Given the description of an element on the screen output the (x, y) to click on. 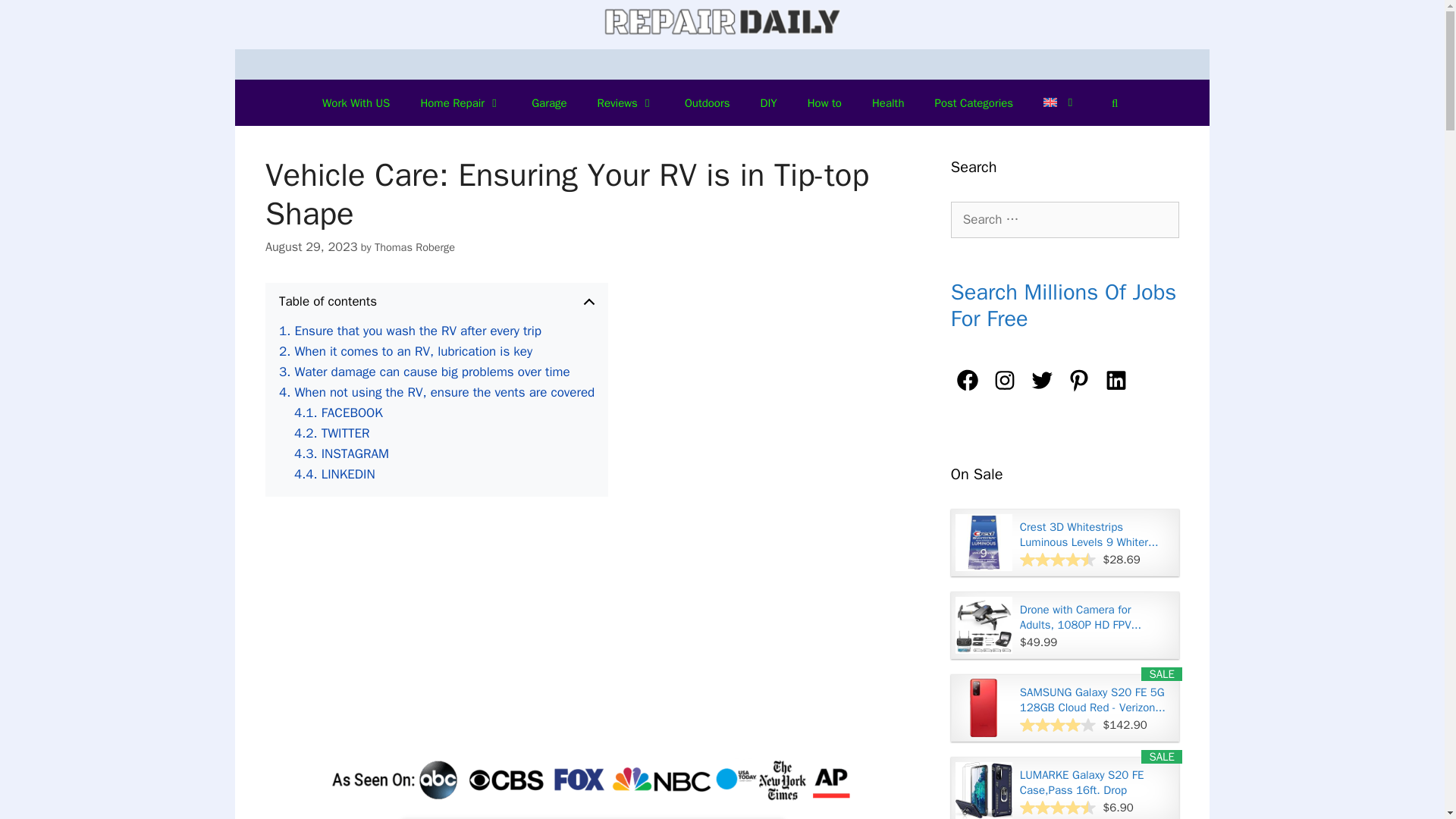
Outdoors (707, 103)
View all posts by Thomas Roberge (414, 246)
LINKEDIN (334, 474)
Garage (548, 103)
Ensure that you wash the RV after every trip (410, 331)
as seen on (592, 779)
DIY (768, 103)
Health (888, 103)
When not using the RV, ensure the vents are covered (436, 392)
